Given the description of an element on the screen output the (x, y) to click on. 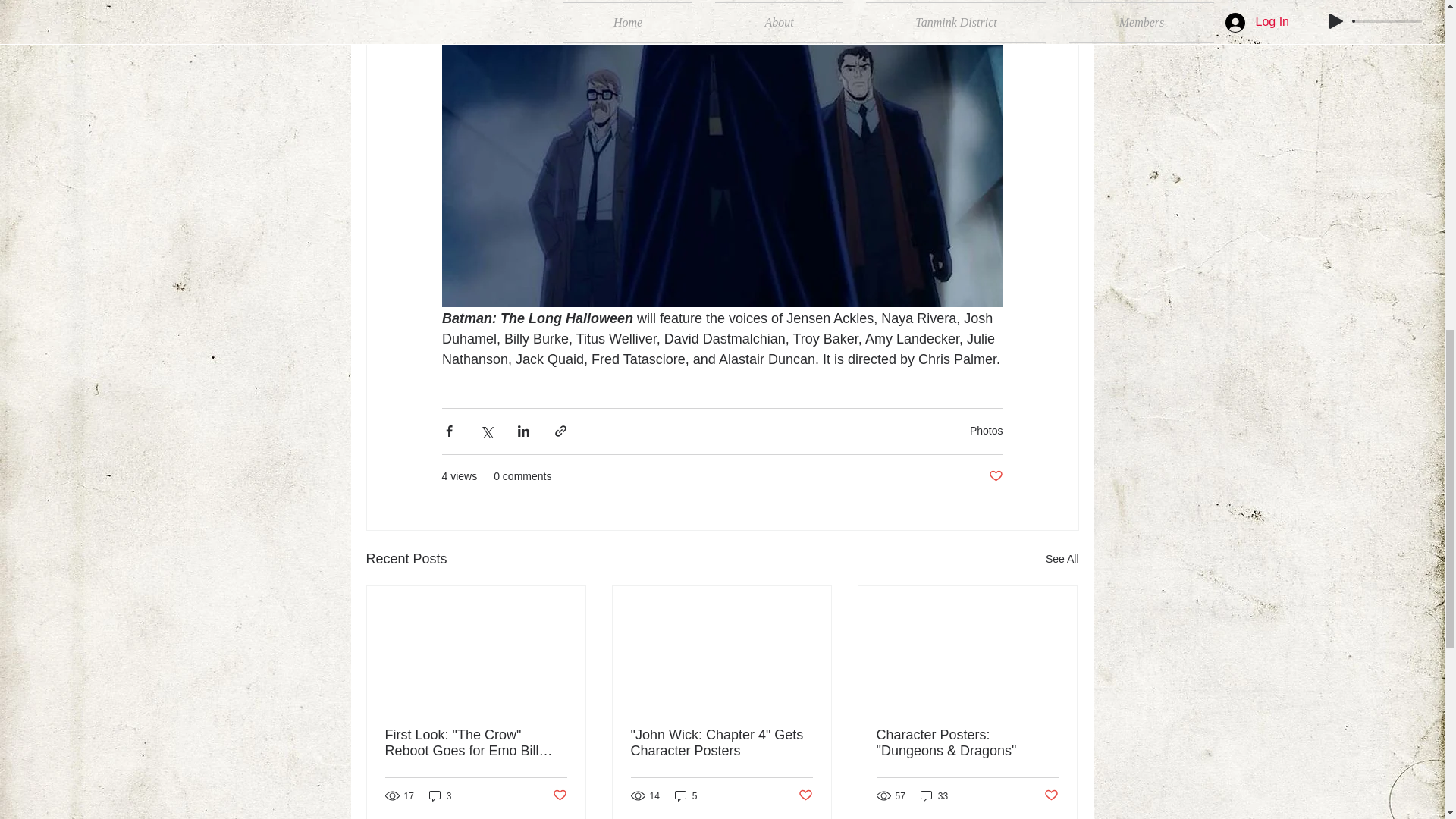
Post not marked as liked (558, 795)
Photos (986, 430)
Post not marked as liked (1050, 795)
3 (440, 795)
"John Wick: Chapter 4" Gets Character Posters (721, 743)
33 (933, 795)
5 (685, 795)
Post not marked as liked (995, 476)
Post not marked as liked (804, 795)
See All (1061, 558)
